Given the description of an element on the screen output the (x, y) to click on. 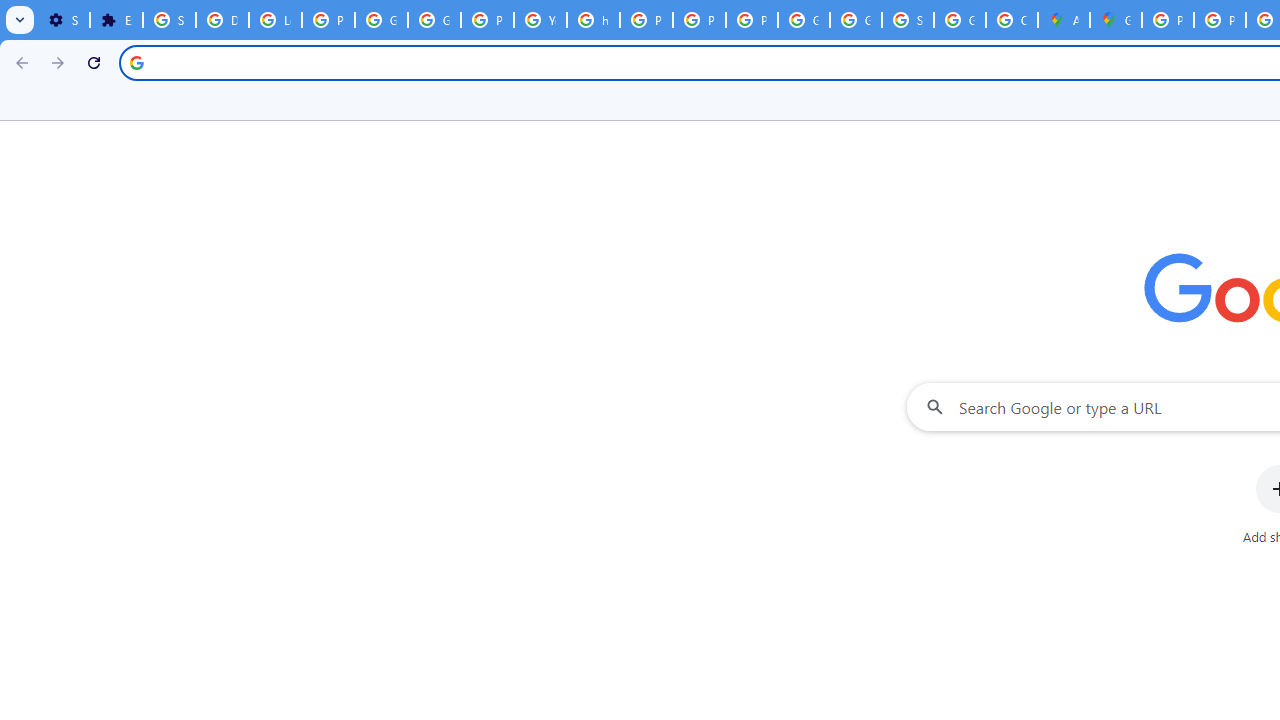
Search tabs (20, 20)
https://scholar.google.com/ (593, 20)
Privacy Help Center - Policies Help (1219, 20)
Back (19, 62)
Google Account Help (434, 20)
Google Account Help (381, 20)
Privacy Help Center - Policies Help (646, 20)
Extensions (116, 20)
